Given the description of an element on the screen output the (x, y) to click on. 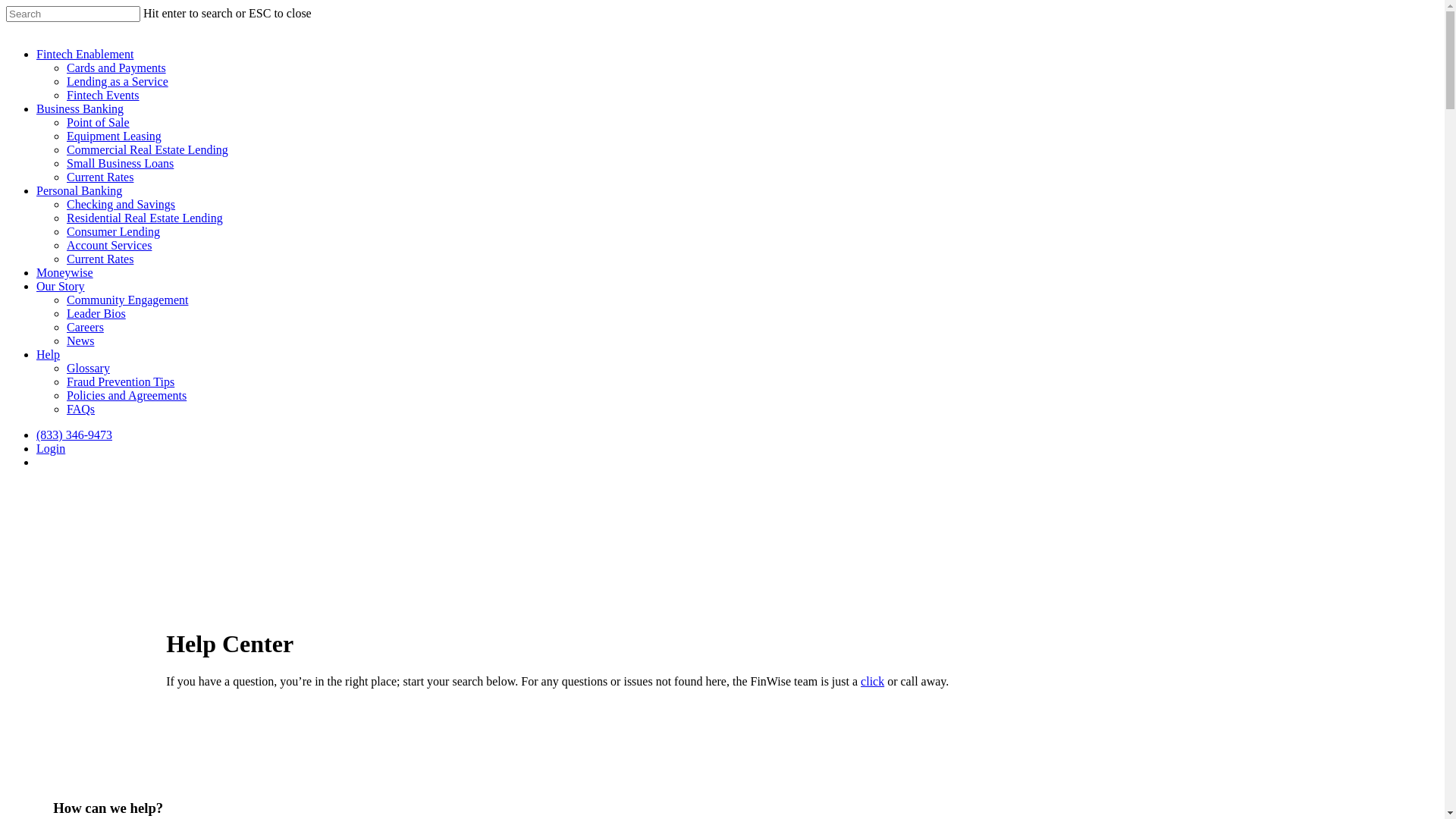
Help Element type: text (47, 354)
Policies and Agreements Element type: text (126, 395)
Moneywise Element type: text (64, 272)
Fraud Prevention Tips Element type: text (120, 381)
click Element type: text (872, 680)
FAQs Element type: text (80, 408)
Checking and Savings Element type: text (120, 203)
Account Services Element type: text (108, 244)
Skip to main content Element type: text (5, 5)
Fintech Enablement Element type: text (84, 53)
Consumer Lending Element type: text (113, 231)
Fintech Events Element type: text (102, 94)
Small Business Loans Element type: text (119, 162)
Close Menu Element type: text (1414, 29)
Cards and Payments Element type: text (116, 67)
News Element type: text (80, 340)
Business Banking Element type: text (79, 108)
Commercial Real Estate Lending Element type: text (147, 149)
(833) 346-9473 Element type: text (74, 434)
Login Element type: text (50, 448)
Equipment Leasing Element type: text (113, 135)
Current Rates Element type: text (99, 258)
Personal Banking Element type: text (79, 190)
Point of Sale Element type: text (97, 122)
Leader Bios Element type: text (95, 313)
Current Rates Element type: text (99, 176)
Glossary Element type: text (87, 367)
Community Engagement Element type: text (127, 299)
Our Story Element type: text (60, 285)
Residential Real Estate Lending Element type: text (144, 217)
Careers Element type: text (84, 326)
Lending as a Service Element type: text (117, 81)
